Given the description of an element on the screen output the (x, y) to click on. 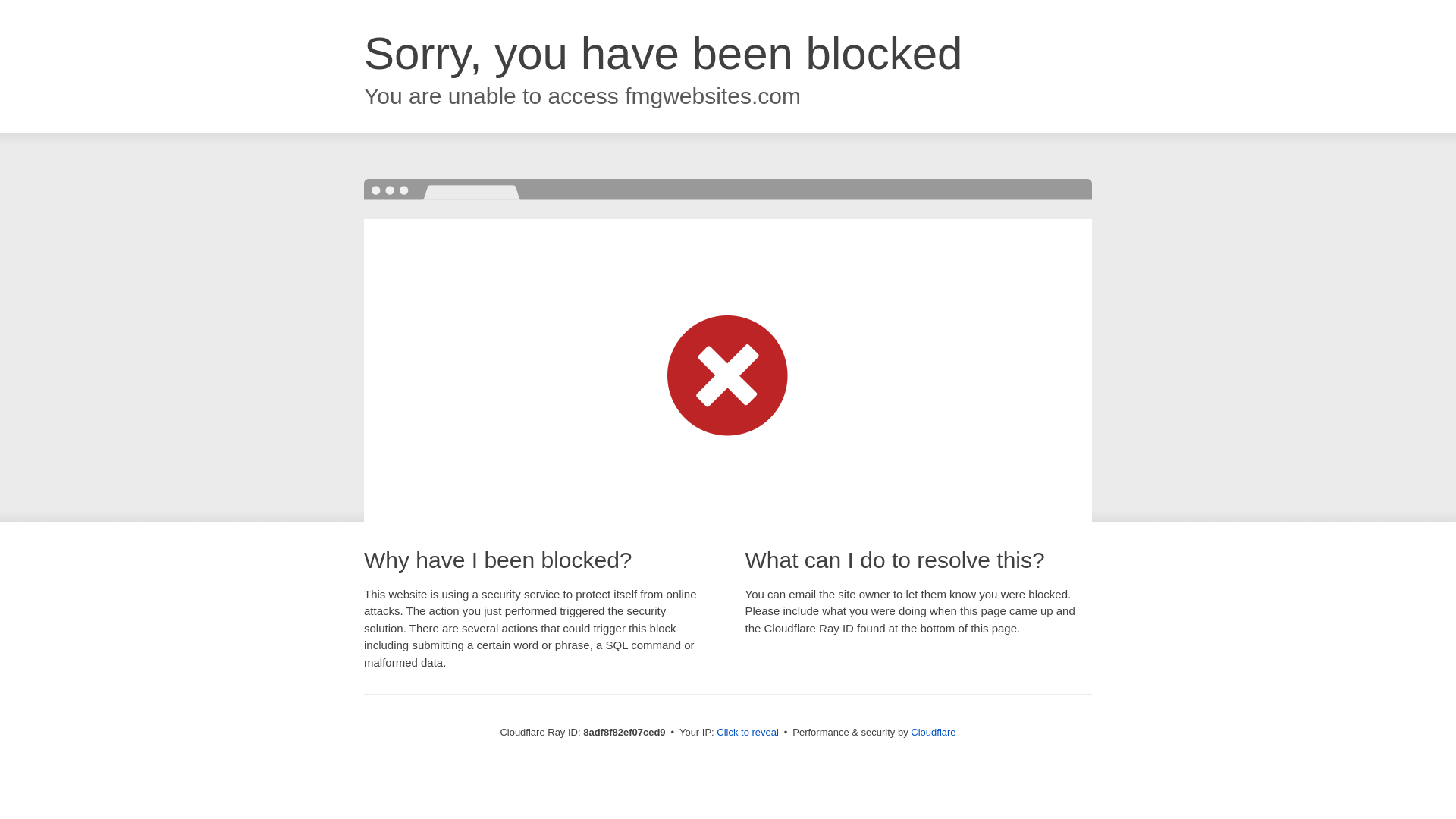
Click to reveal (747, 732)
Cloudflare (933, 731)
